Given the description of an element on the screen output the (x, y) to click on. 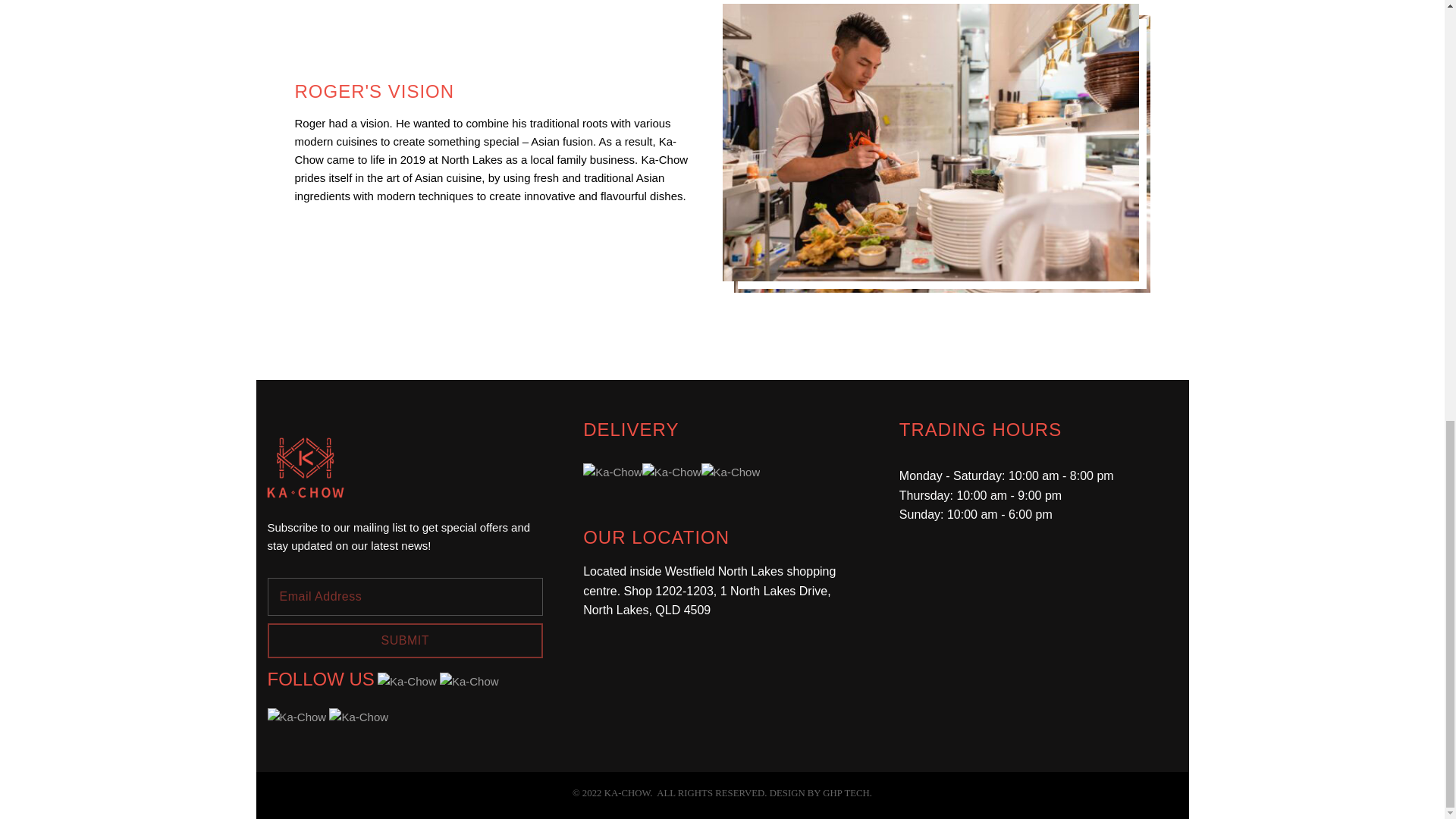
Submit (404, 640)
Submit (404, 640)
GHP TECH (845, 792)
DOORDASH (612, 472)
UBEREATS (671, 472)
